Given the description of an element on the screen output the (x, y) to click on. 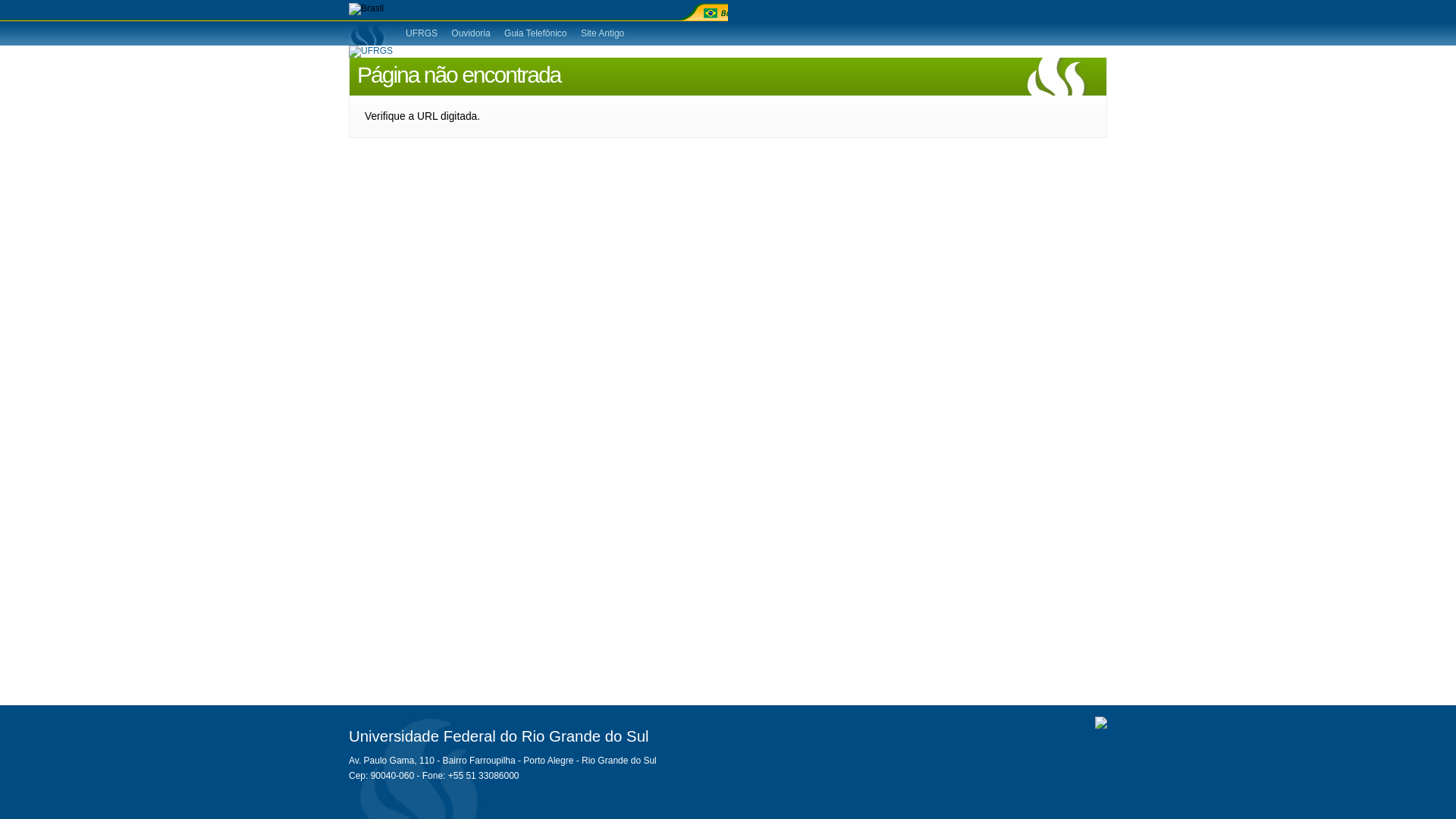
Ouvidoria Element type: text (471, 33)
Site Antigo Element type: text (602, 33)
UFRGS Element type: text (422, 33)
UFRGS Element type: hover (370, 51)
Portal UFRGS | Universidade Federal do Rio Grande do Sul Element type: hover (370, 50)
